Given the description of an element on the screen output the (x, y) to click on. 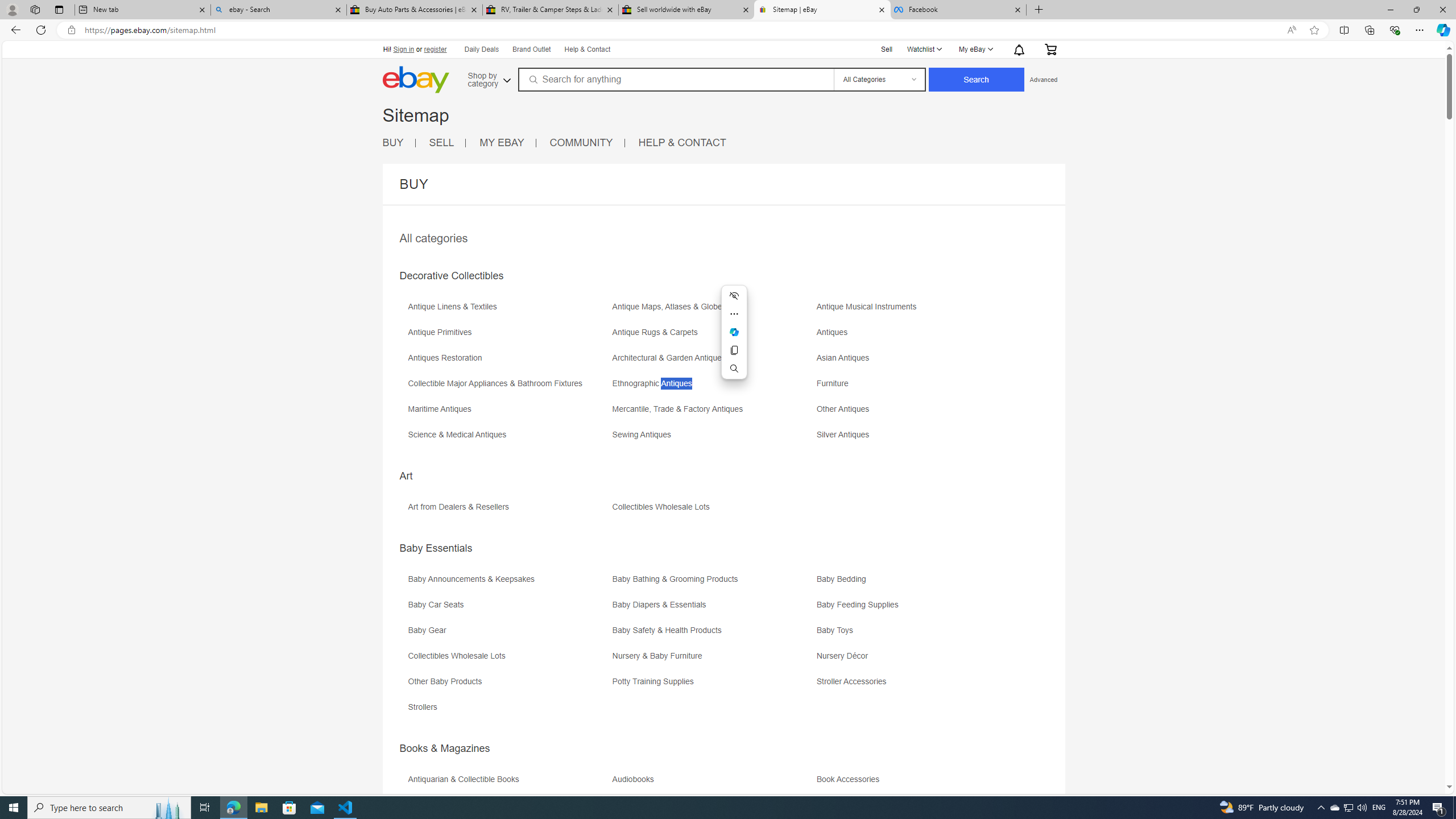
All categories (432, 237)
Antiques Restoration (508, 361)
Ethnographic Antiques (654, 383)
Baby Toys (917, 634)
Baby Car Seats (438, 604)
Search for anything (675, 79)
Baby Diapers & Essentials (712, 608)
Antique Rugs & Carpets (712, 336)
Baby Announcements & Keepsakes (473, 579)
Silver Antiques (917, 438)
Antique Linens & Textiles (454, 306)
